Given the description of an element on the screen output the (x, y) to click on. 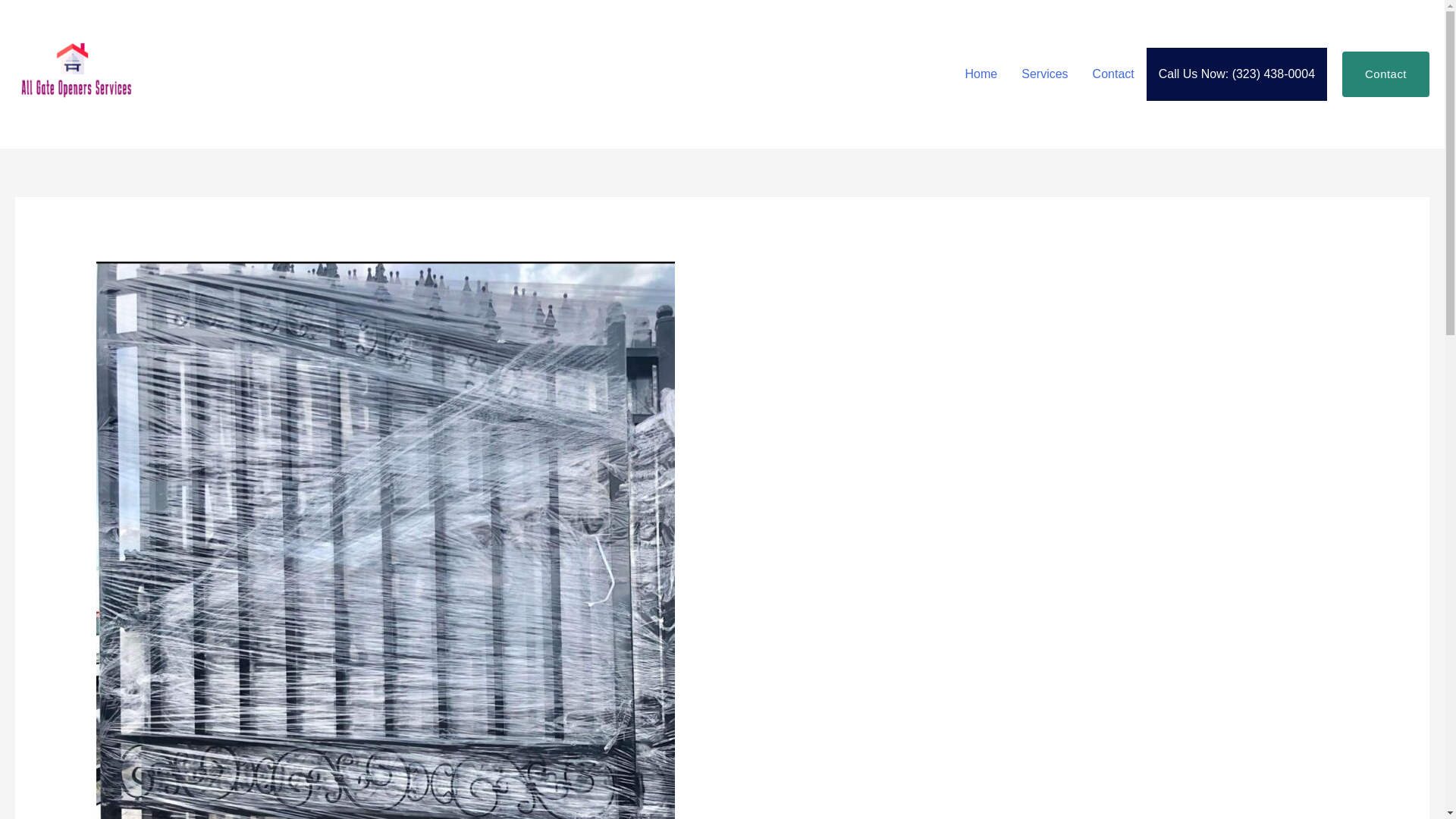
Contact (1385, 74)
Home (981, 73)
Services (1044, 73)
Contact (1113, 73)
